Given the description of an element on the screen output the (x, y) to click on. 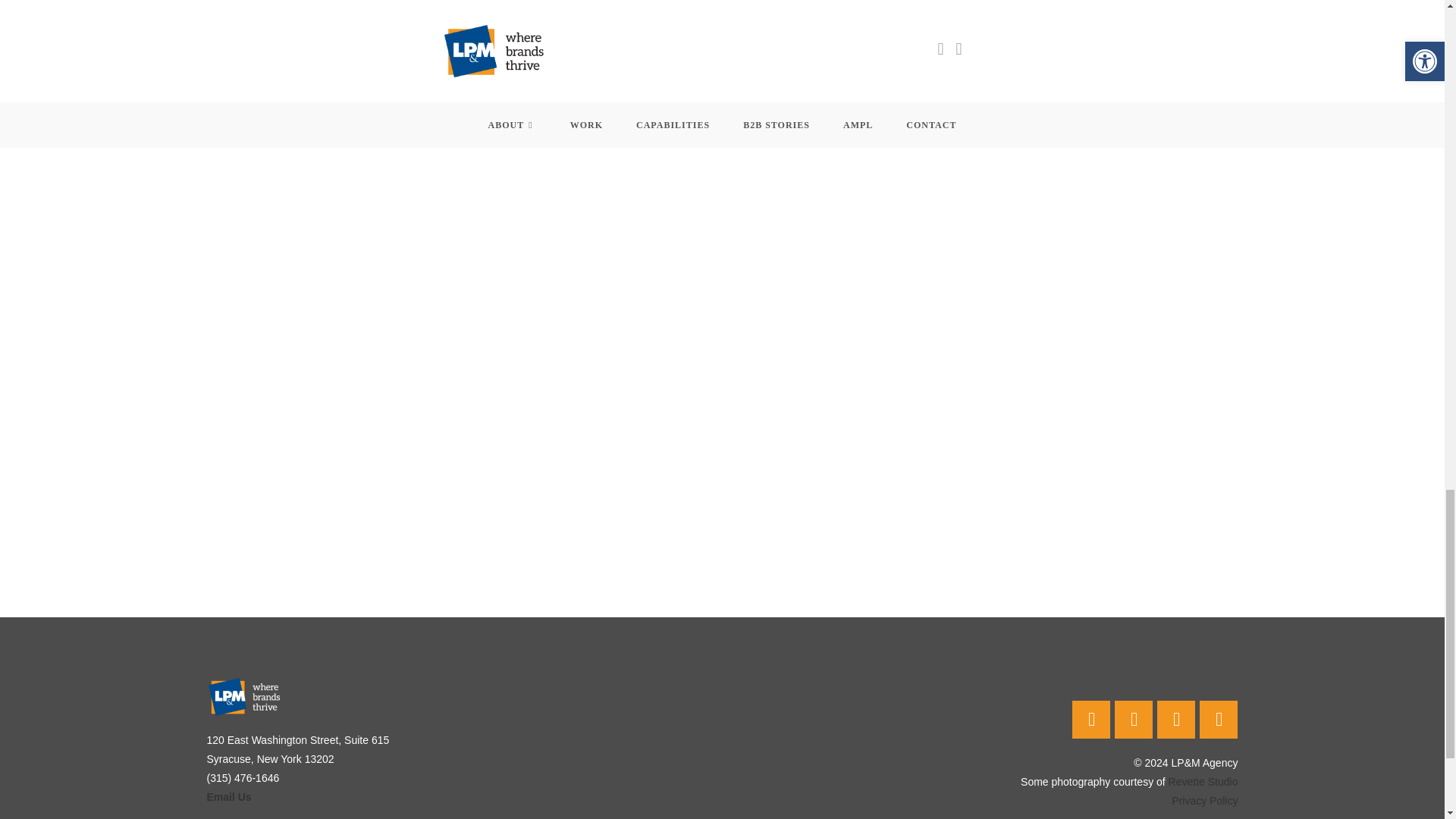
Email Us (228, 797)
LPM Logo New 02 Tagline Footer-01 (244, 696)
